Given the description of an element on the screen output the (x, y) to click on. 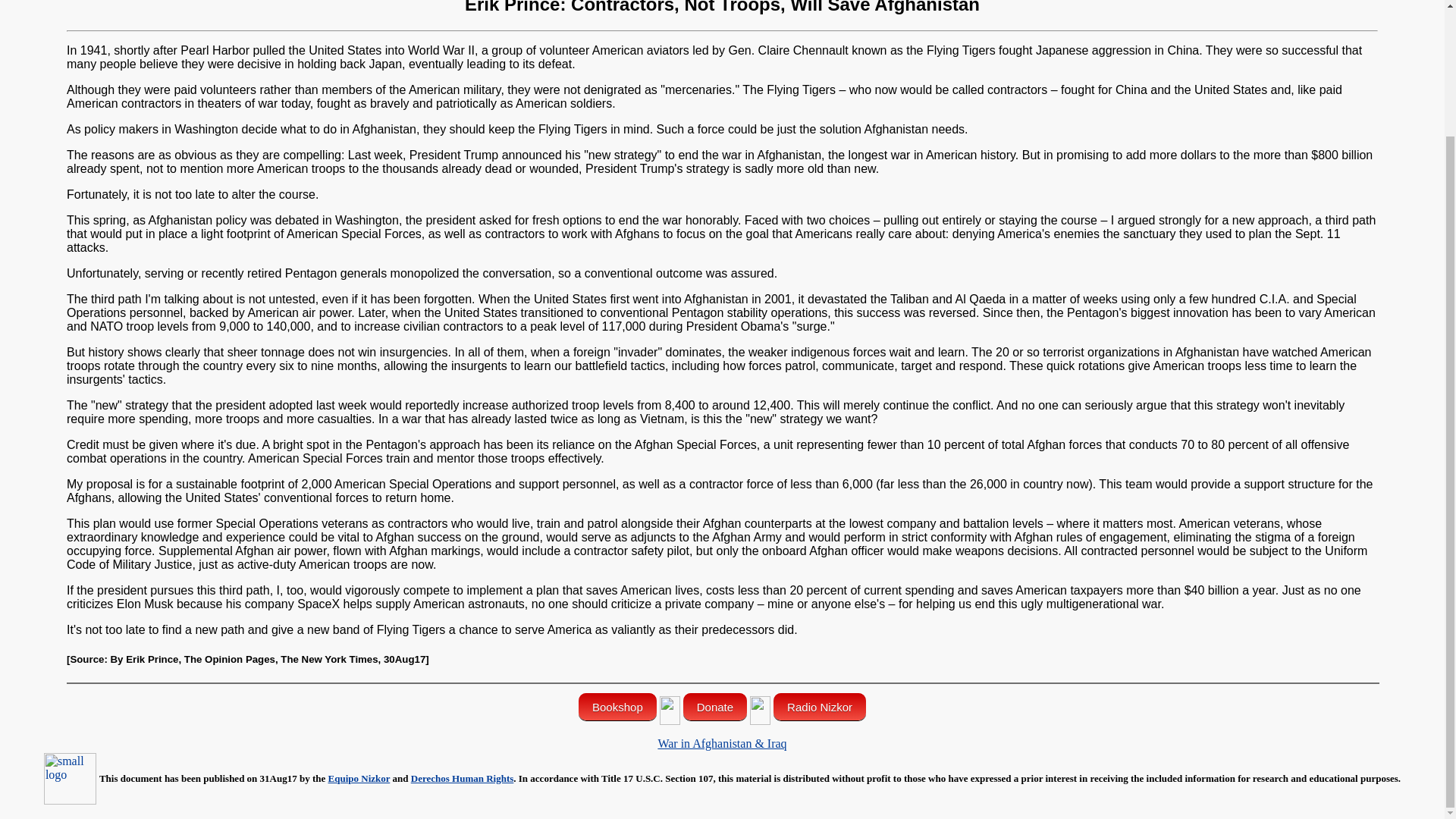
Derechos Human Rights (461, 778)
Equipo Nizkor (359, 778)
Bookshop (617, 706)
Radio Nizkor (819, 706)
Donate (714, 706)
